Given the description of an element on the screen output the (x, y) to click on. 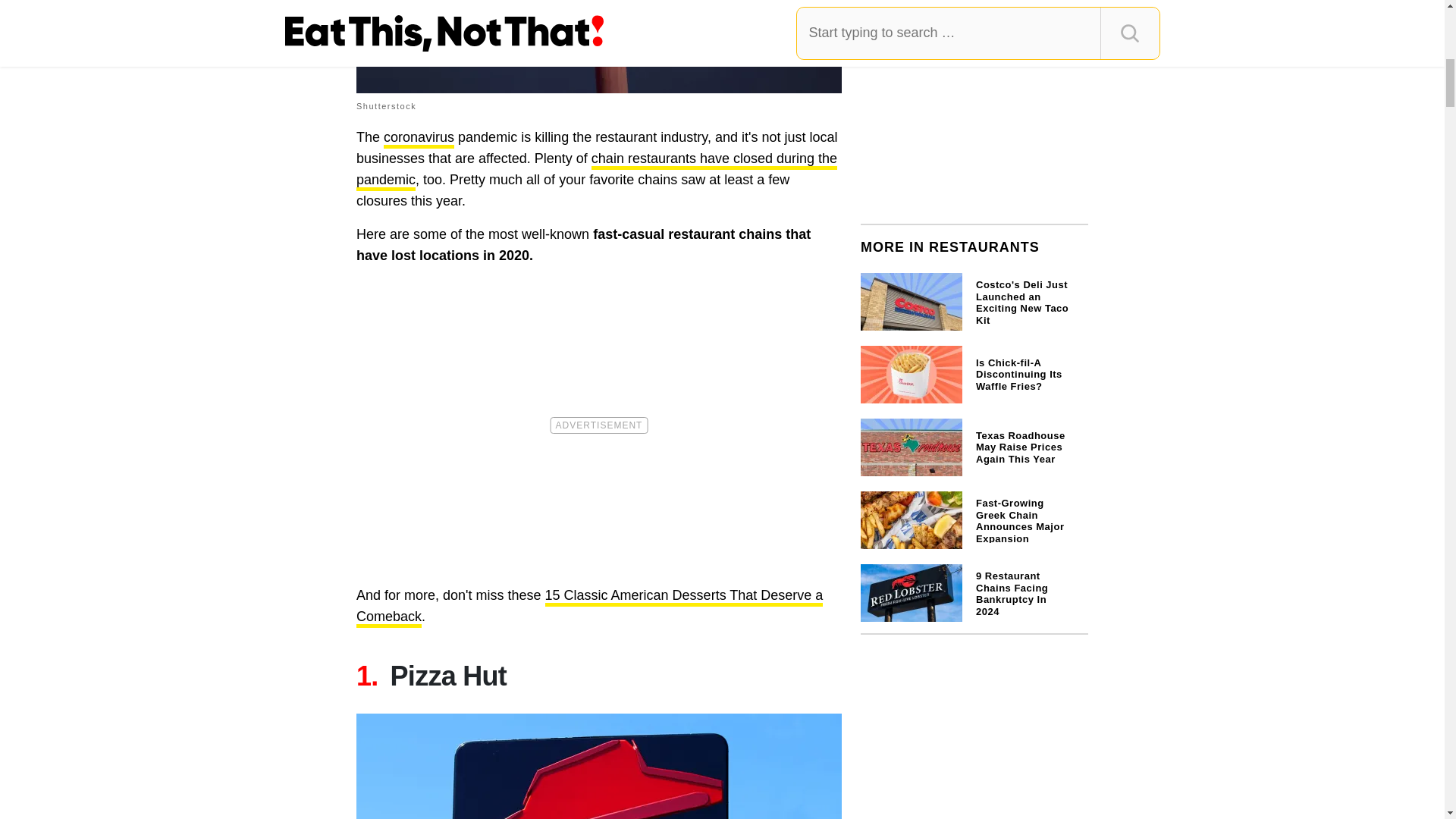
Costco's Deli Just Launched an Exciting New Taco Kit (973, 299)
